Given the description of an element on the screen output the (x, y) to click on. 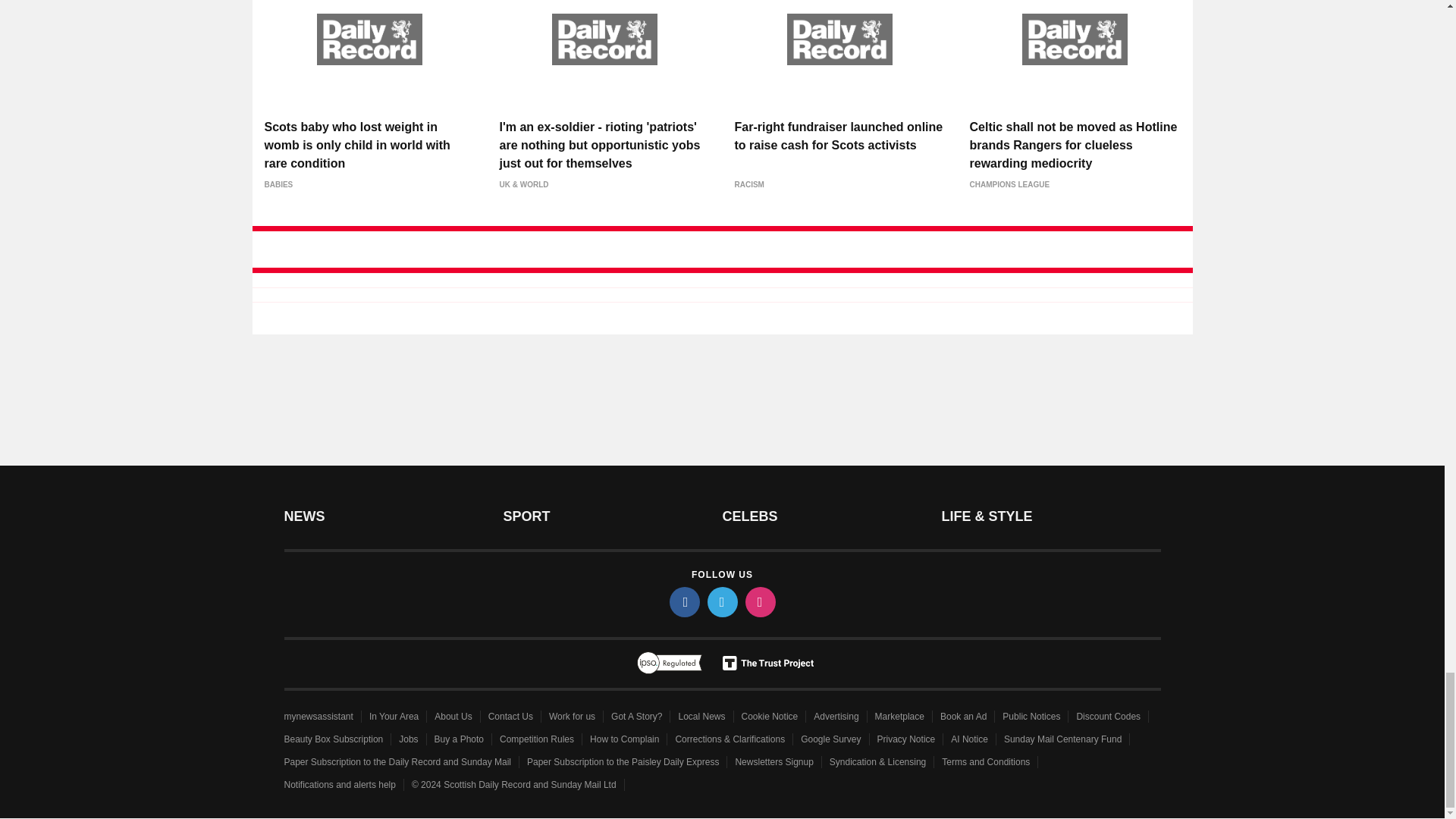
twitter (721, 602)
facebook (683, 602)
instagram (759, 602)
